Given the description of an element on the screen output the (x, y) to click on. 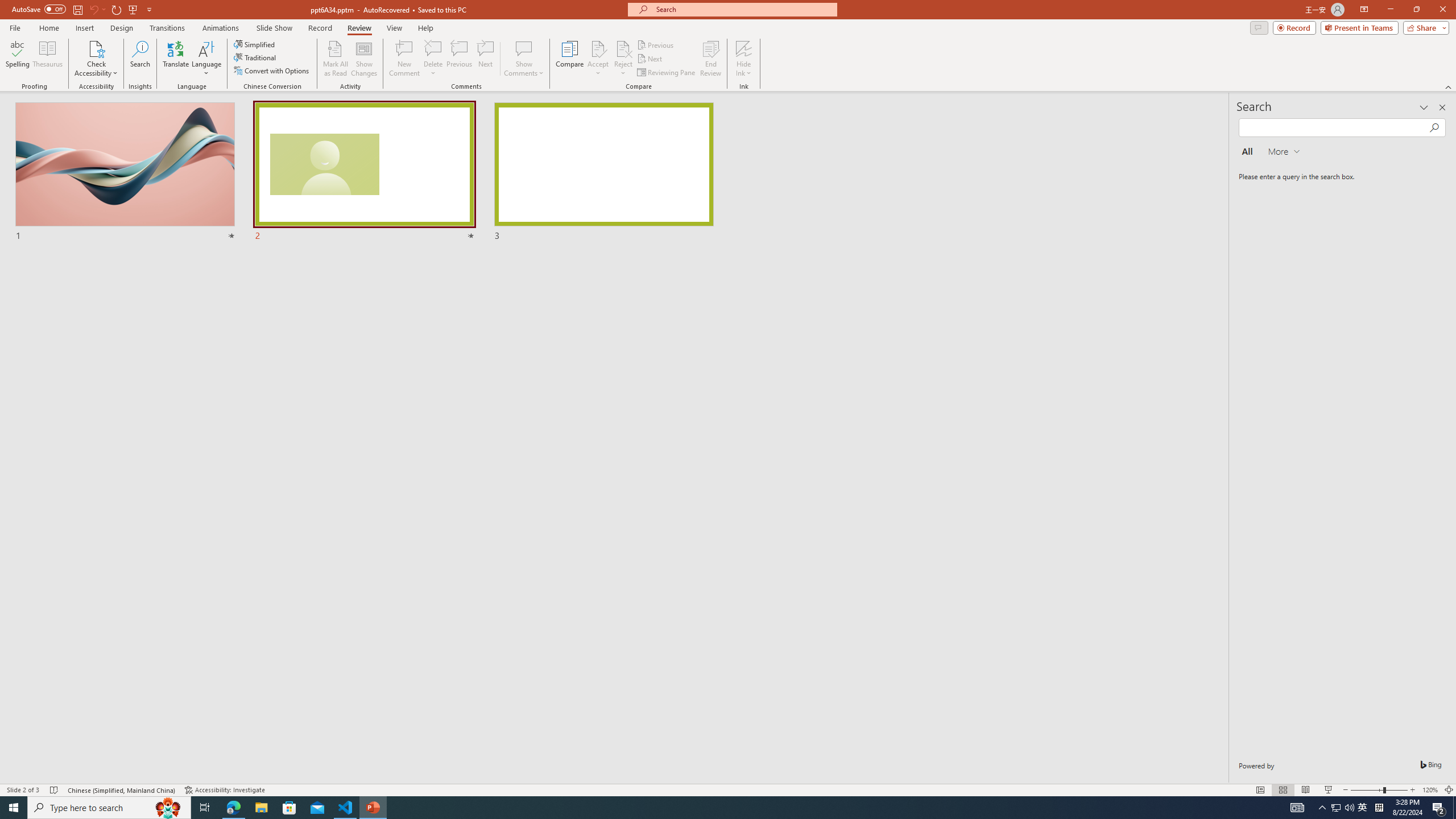
Show Changes (363, 58)
Compare (569, 58)
Mark All as Read (335, 58)
